Given the description of an element on the screen output the (x, y) to click on. 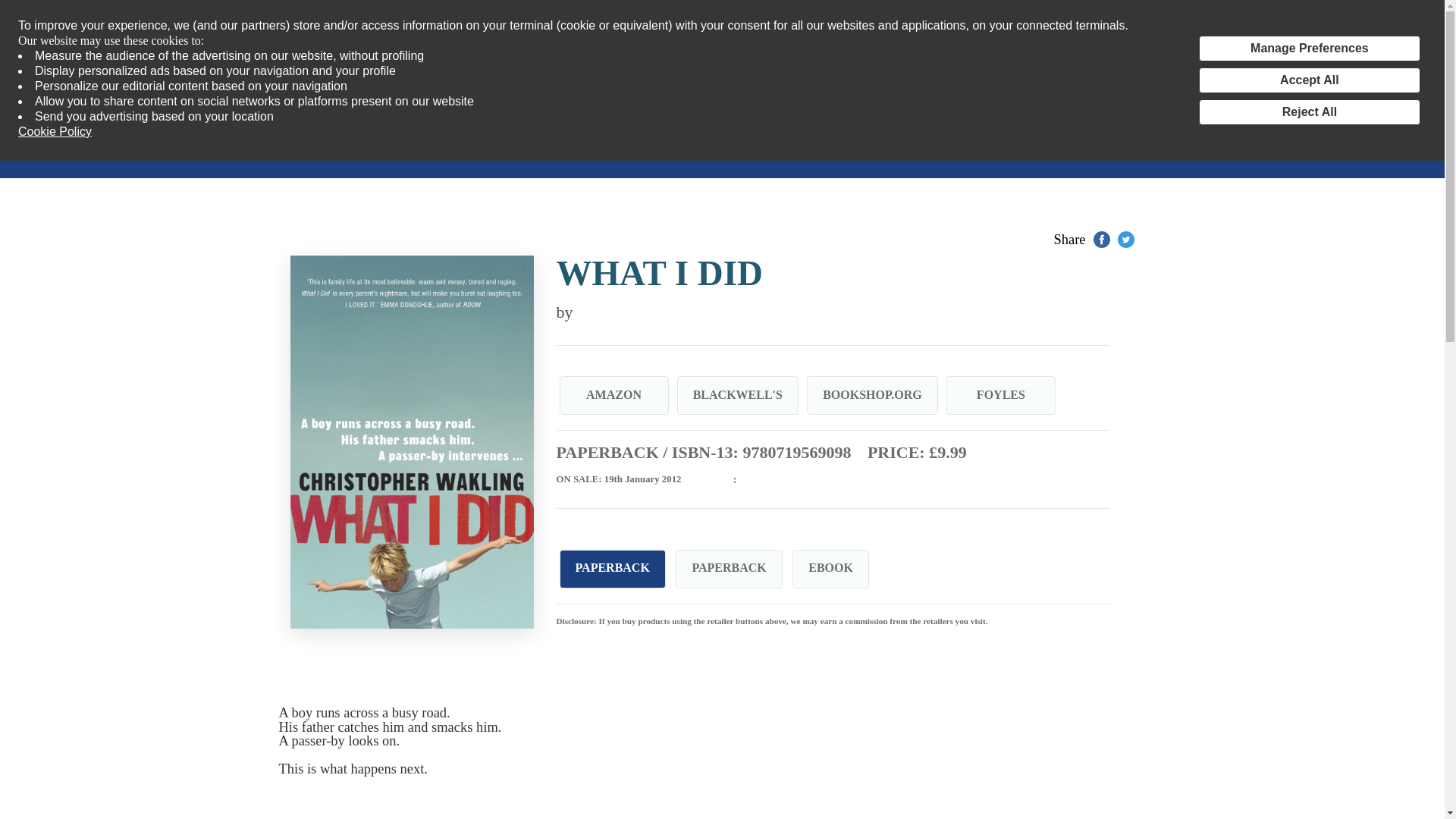
ABOUT US (541, 149)
Manage Preferences (1309, 48)
IMPRINTS (179, 149)
ebook (830, 568)
Reject All (1309, 112)
Cookie Policy (54, 131)
Paperback (728, 568)
Accept All (1309, 80)
